Given the description of an element on the screen output the (x, y) to click on. 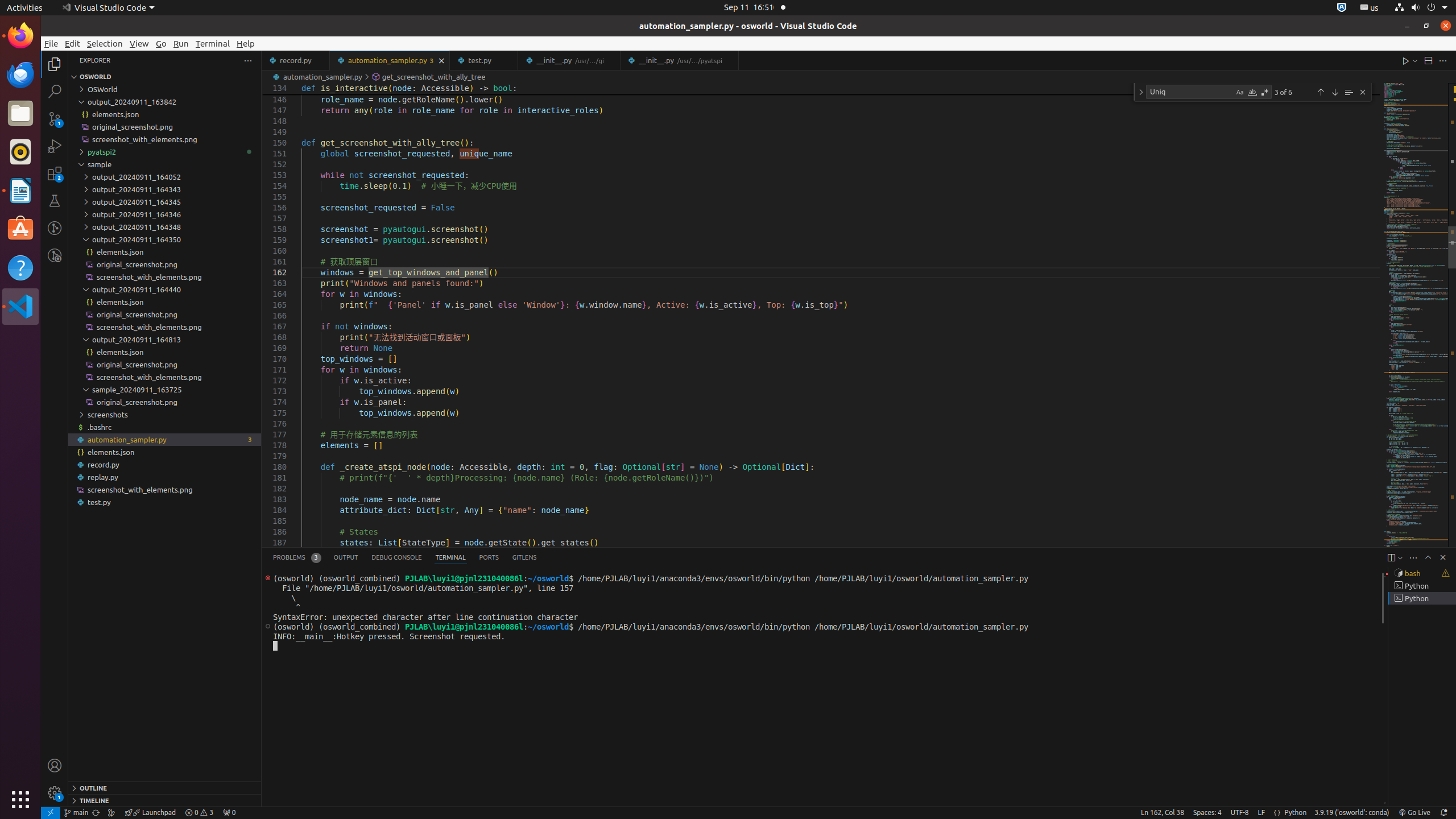
Close (Ctrl+W) Element type: push-button (730, 60)
automation_sampler.py Element type: page-tab (389, 60)
Match Whole Word (Alt+W) Element type: check-box (1252, 91)
Terminal Element type: push-button (212, 43)
Explorer (Ctrl+Shift+E) Element type: page-tab (54, 63)
